Given the description of an element on the screen output the (x, y) to click on. 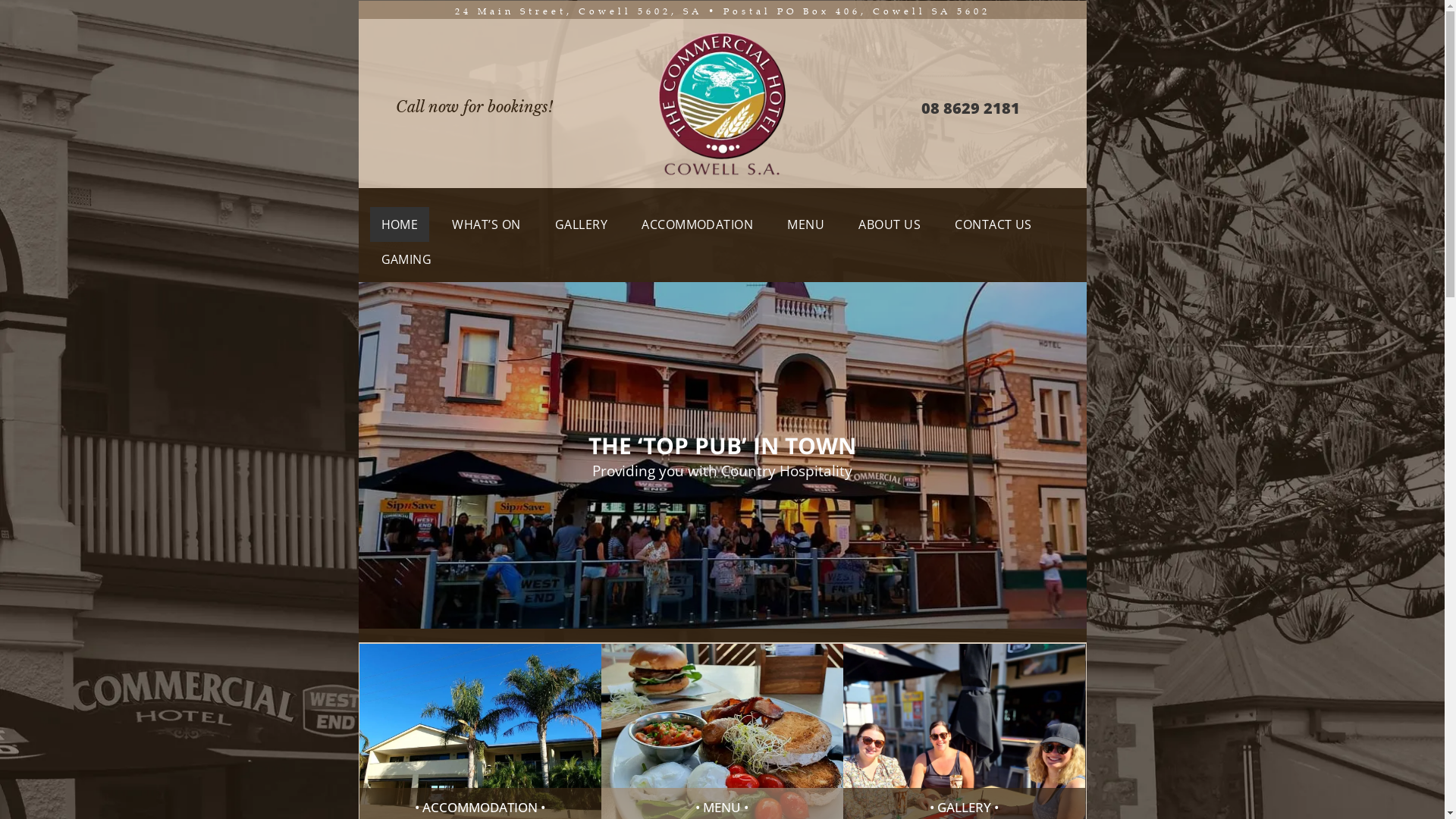
ACCOMMODATION Element type: text (697, 224)
ABOUT US Element type: text (889, 224)
08 8629 2181 Element type: text (970, 107)
CONTACT US Element type: text (993, 224)
MENU Element type: text (805, 224)
GALLERY Element type: text (580, 224)
HOME Element type: text (399, 224)
GAMING Element type: text (406, 258)
